Given the description of an element on the screen output the (x, y) to click on. 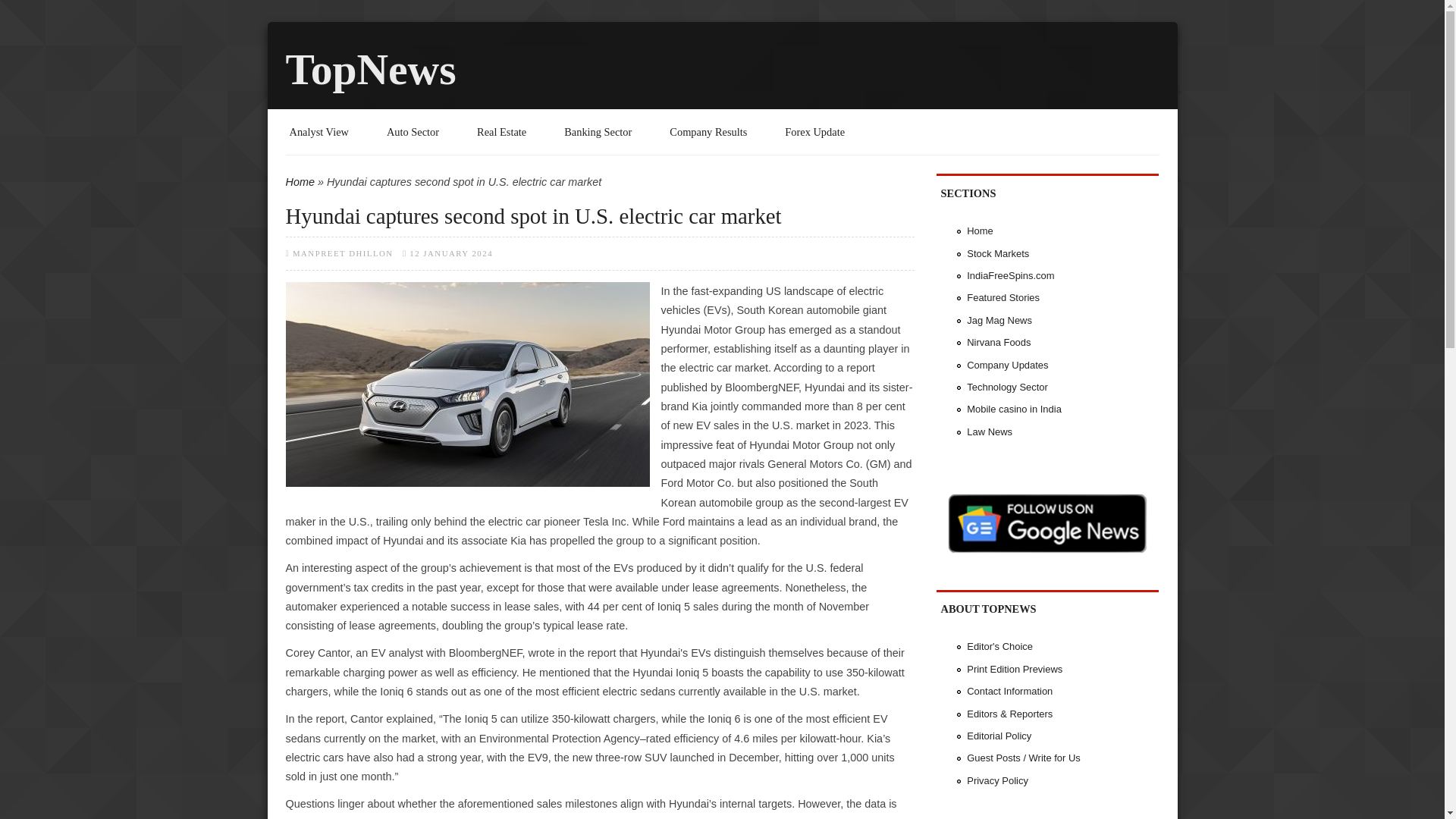
Jag Mag News (999, 319)
Privacy Policy (996, 780)
Technology Sector (1007, 387)
Company Results (707, 132)
Jag Mag News (999, 319)
Editor's Choice (999, 645)
Stock Markets (997, 253)
Mobile casino in India (1013, 408)
Banking Sector (597, 132)
Law News TopNews (988, 431)
